Given the description of an element on the screen output the (x, y) to click on. 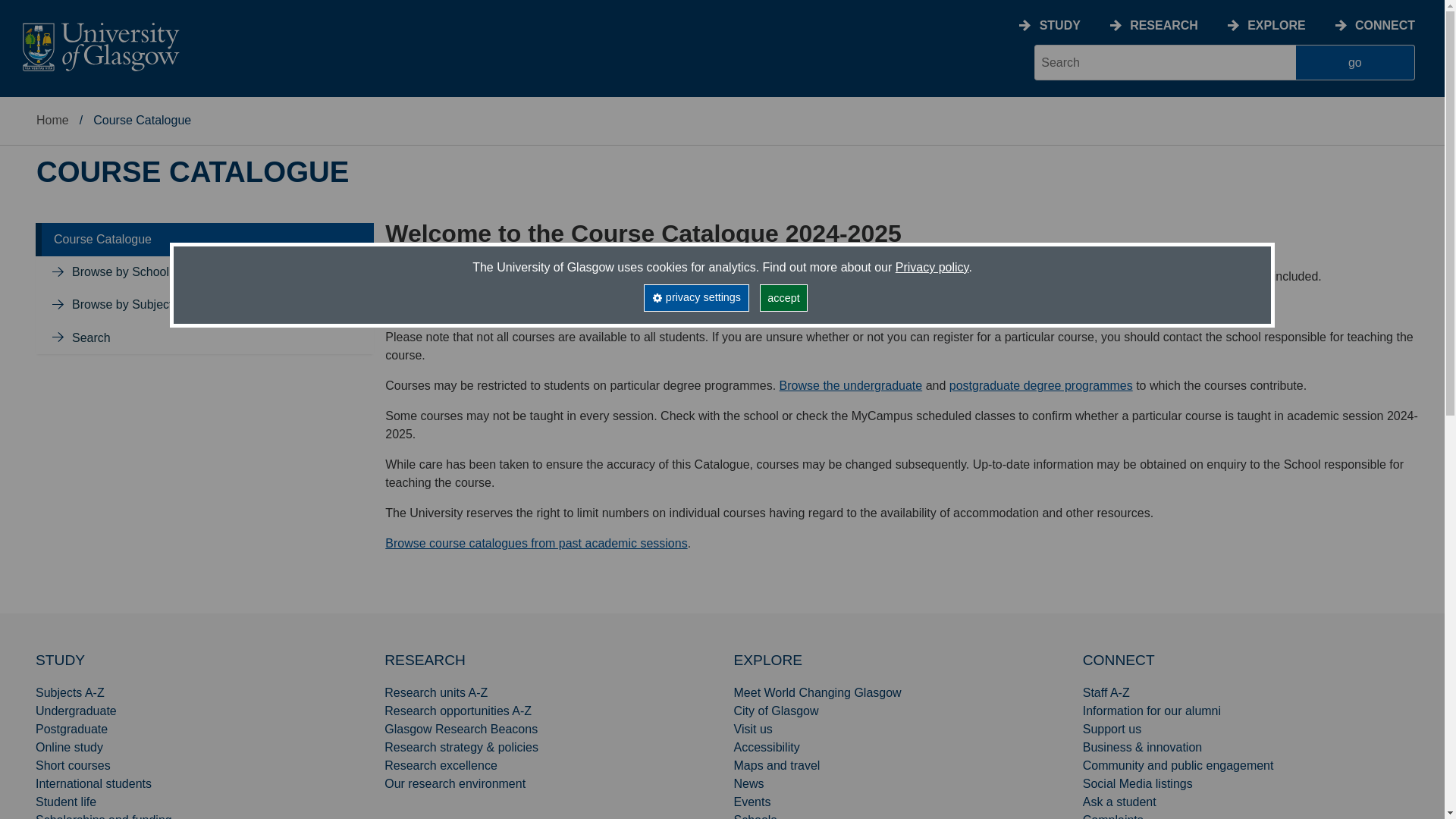
postgraduate degree programmes (1040, 385)
Postgraduate (70, 728)
Browse the undergraduate (850, 385)
go (1355, 62)
Subjects A-Z (69, 692)
Privacy policy (932, 267)
RESEARCH (1163, 24)
Browse by School (616, 306)
Browse by Subject Area (496, 306)
STUDY (59, 659)
